Given the description of an element on the screen output the (x, y) to click on. 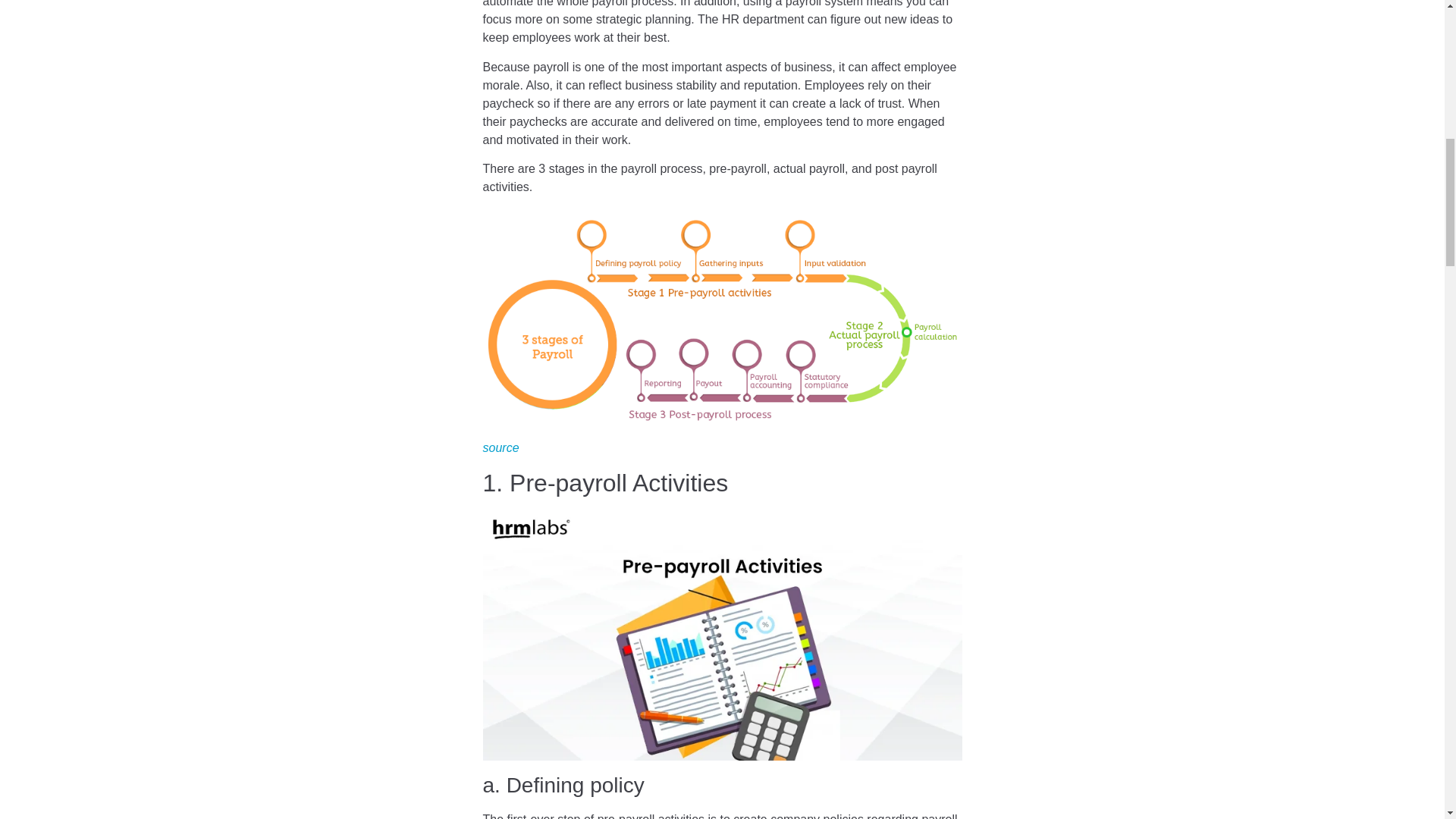
source (499, 447)
